Given the description of an element on the screen output the (x, y) to click on. 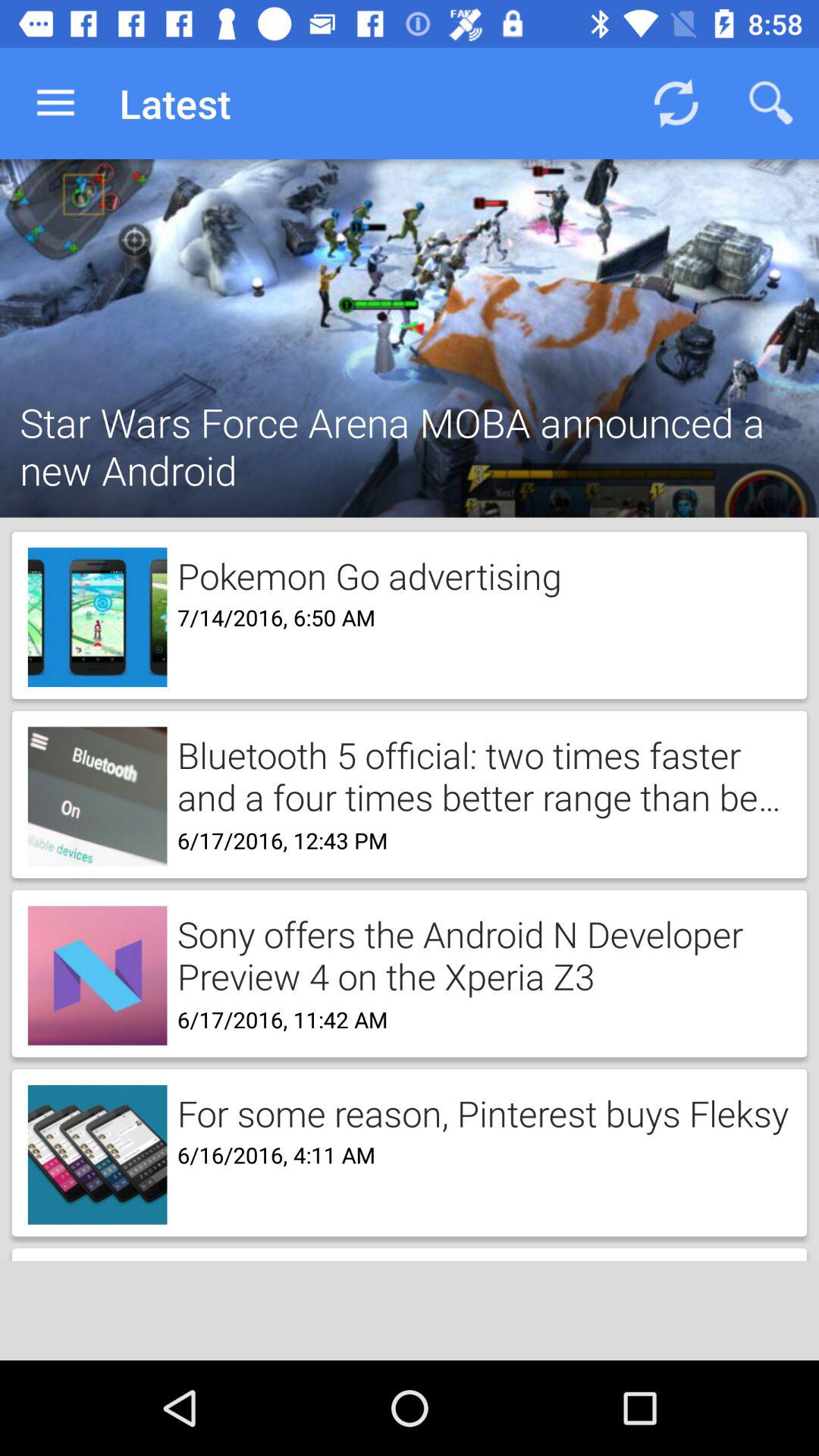
turn on the item above the 7 14 2016 icon (364, 573)
